Given the description of an element on the screen output the (x, y) to click on. 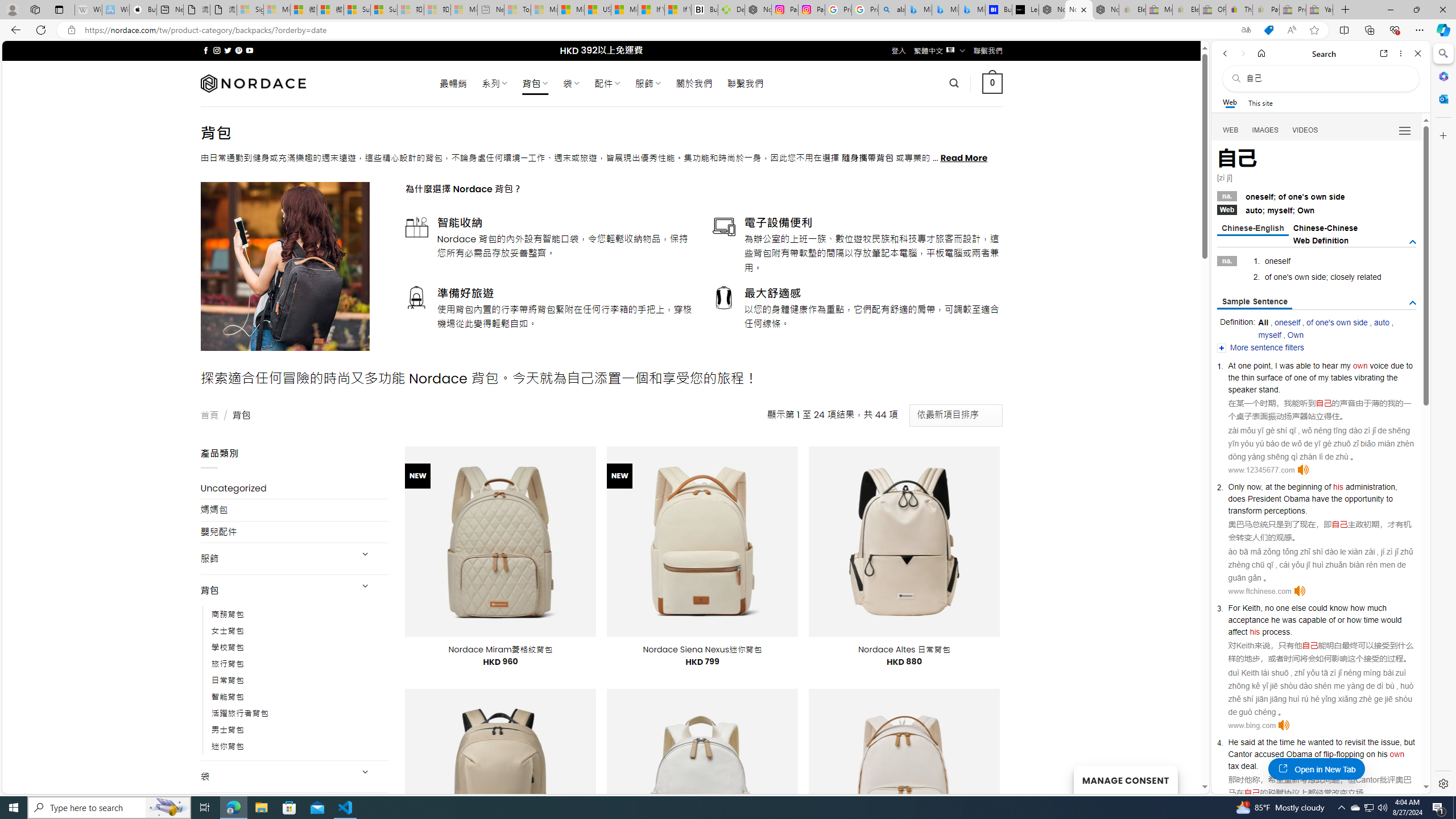
Chinese-Chinese (1325, 227)
Uncategorized (294, 488)
vibrating (1369, 377)
na.oneself; of one's own side (1316, 195)
